Given the description of an element on the screen output the (x, y) to click on. 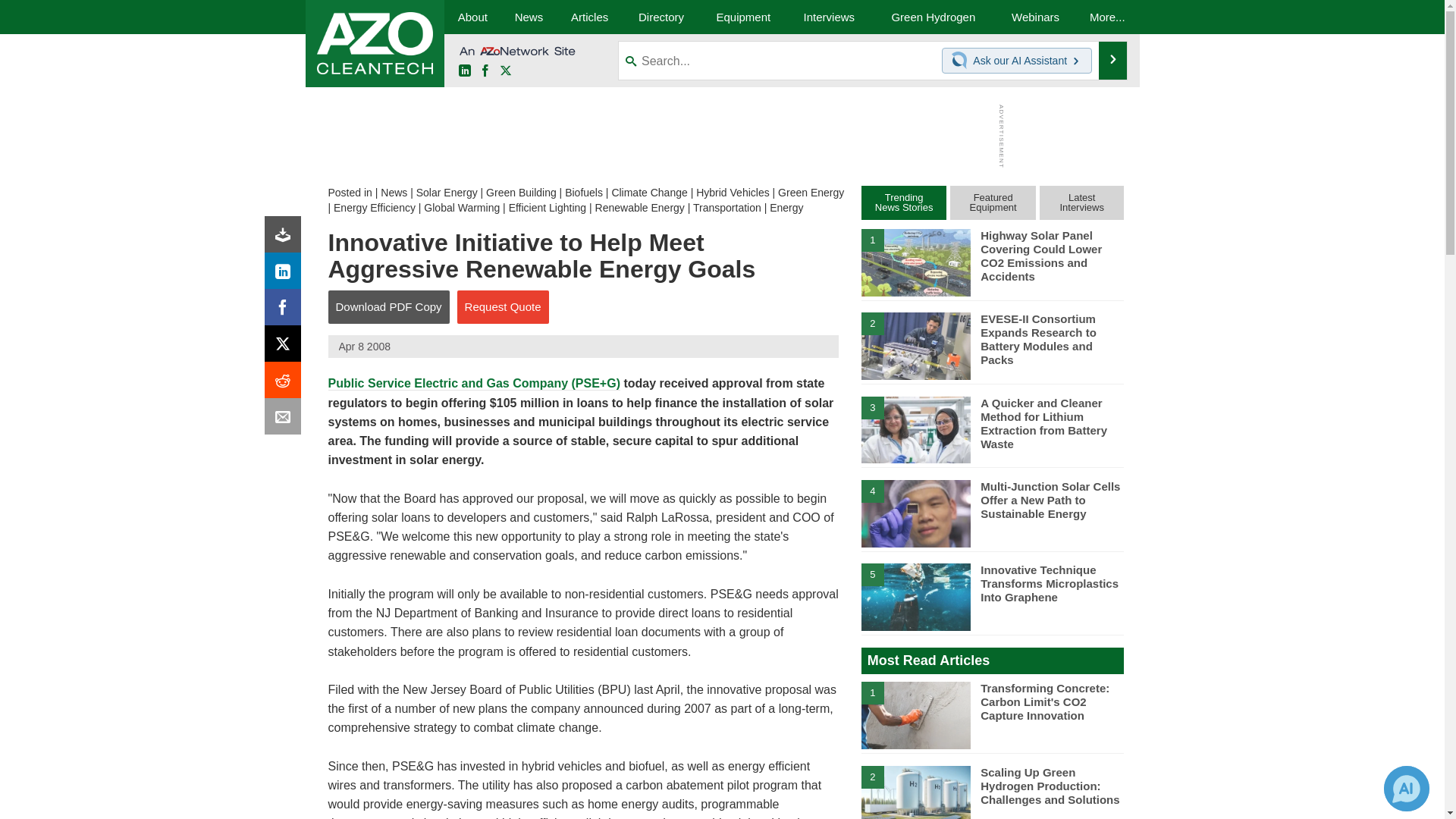
X (505, 71)
About (472, 17)
Email (285, 420)
Green Hydrogen (932, 17)
Facebook (485, 71)
News (528, 17)
News (393, 192)
Chat with our AI Assistant (962, 60)
LinkedIn (464, 71)
